Given the description of an element on the screen output the (x, y) to click on. 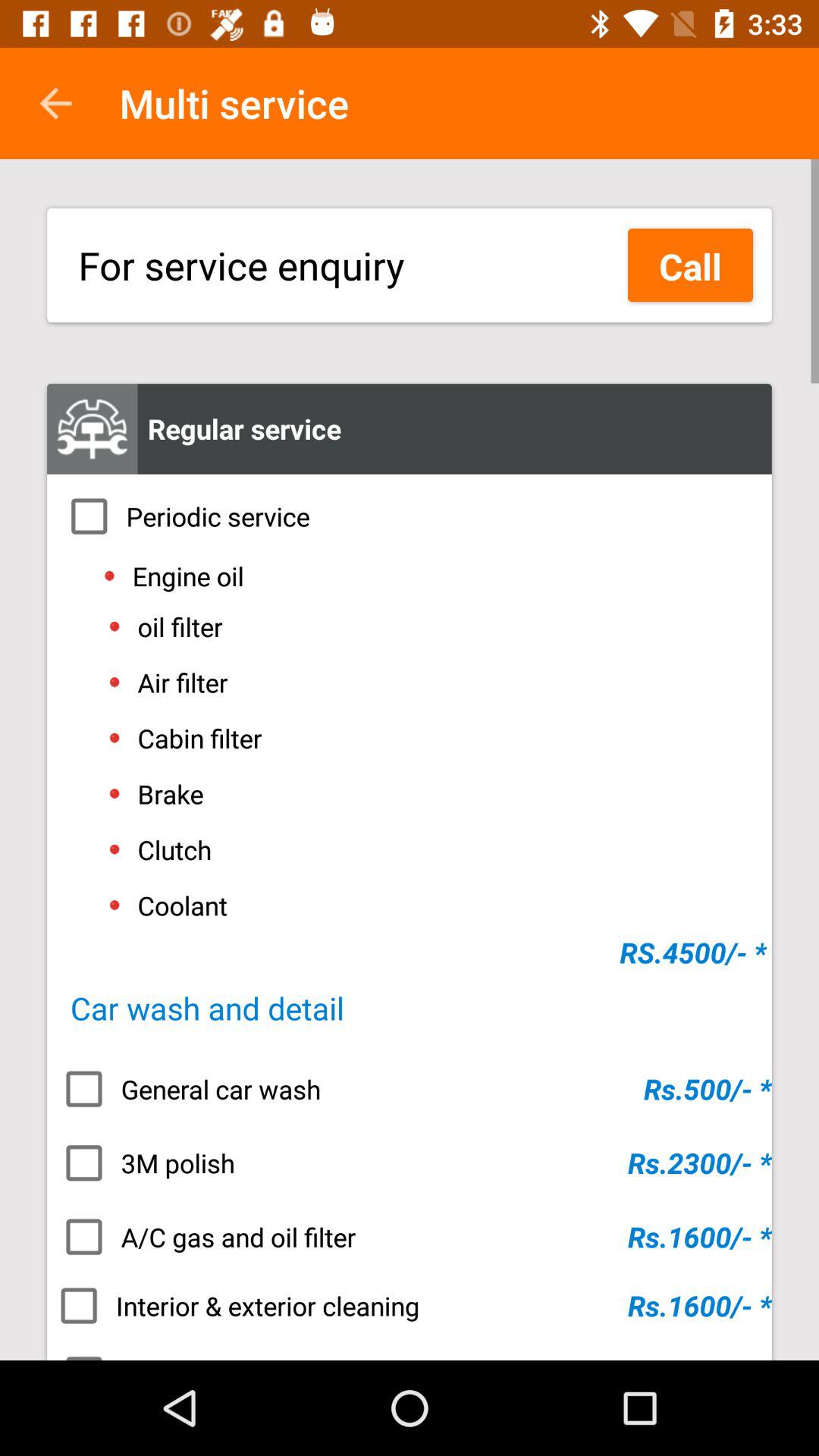
flip to interior & exterior cleaning item (409, 1305)
